Given the description of an element on the screen output the (x, y) to click on. 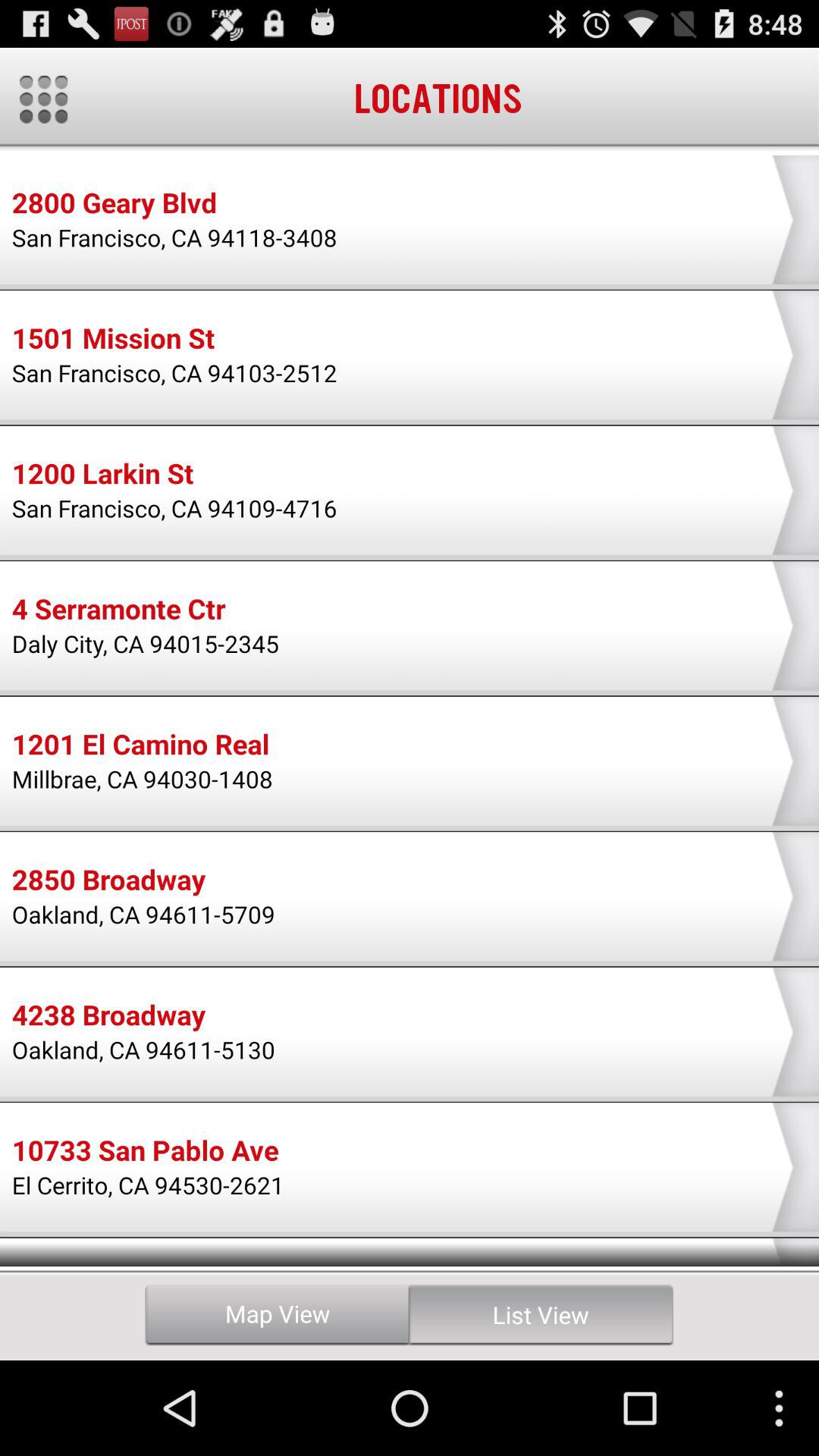
flip to the millbrae ca 94030 item (142, 778)
